Given the description of an element on the screen output the (x, y) to click on. 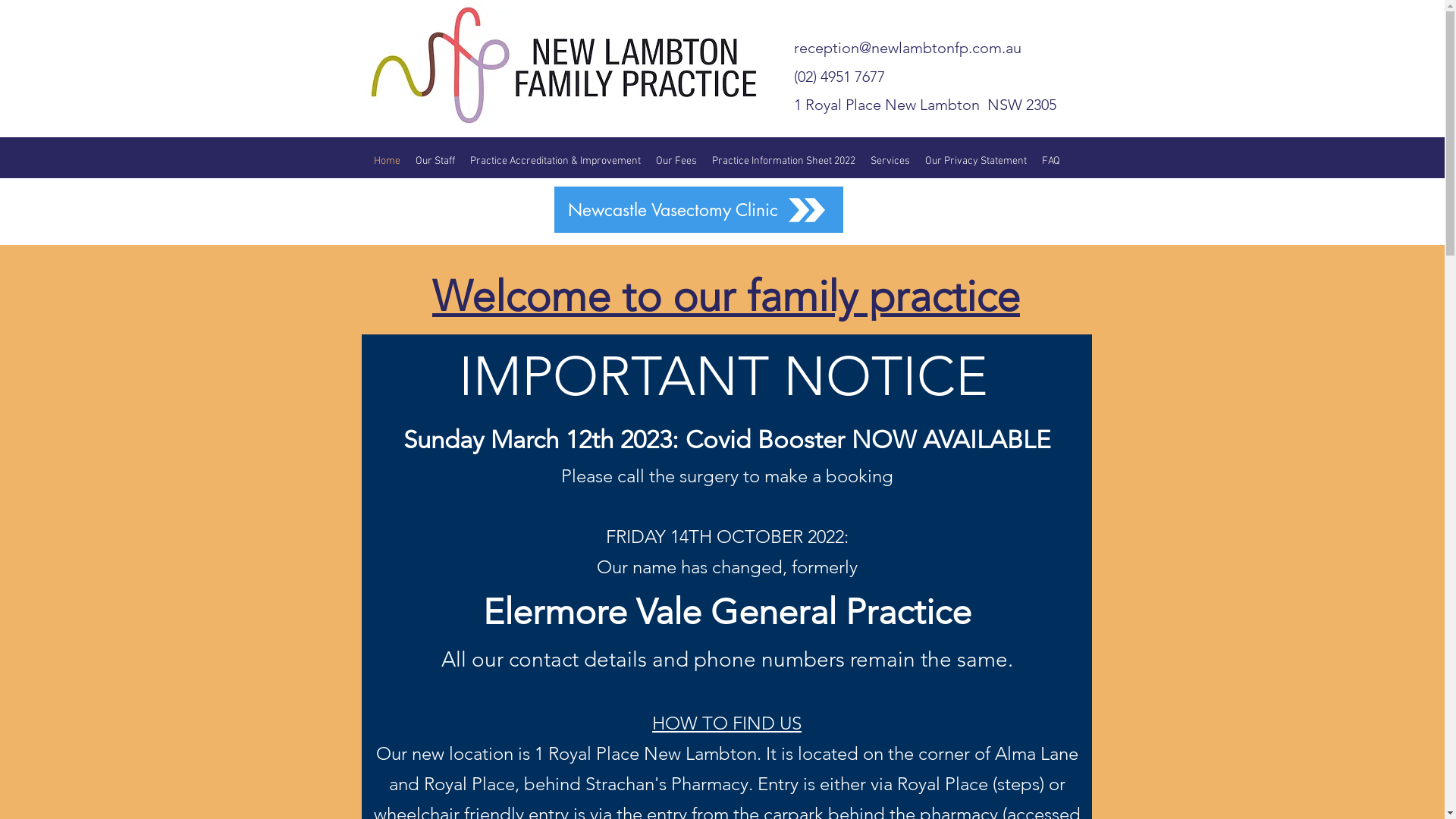
Newcastle Vasectomy Clinic Element type: text (697, 209)
Services Element type: text (889, 161)
Our Staff Element type: text (434, 161)
Practice Information Sheet 2022 Element type: text (782, 161)
Home Element type: text (386, 161)
Practice Accreditation & Improvement Element type: text (555, 161)
reception@newlambtonfp.com.au Element type: text (906, 47)
Our Fees Element type: text (675, 161)
FAQ Element type: text (1050, 161)
Our Privacy Statement Element type: text (975, 161)
